Given the description of an element on the screen output the (x, y) to click on. 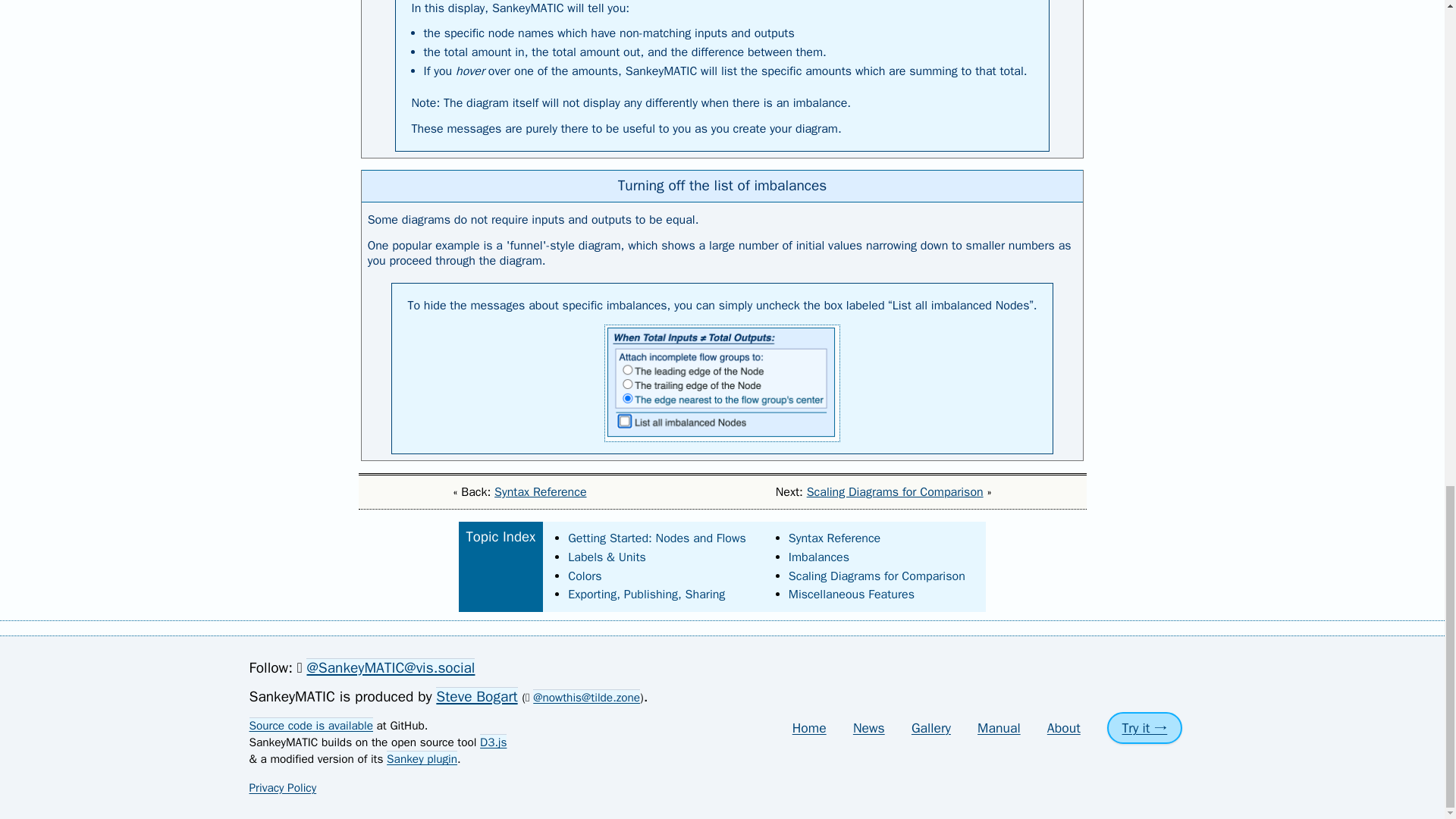
Getting Started: Nodes and Flows (656, 538)
Scaling Diagrams for Comparison (877, 575)
Gallery (930, 727)
Home (809, 727)
D3.js (493, 741)
Gallery of SankeyMATIC Examples (930, 727)
Syntax Reference (540, 491)
How to use SankeyMATIC to the fullest (998, 727)
Steve Bogart (475, 696)
Imbalances (818, 557)
Privacy Policy (281, 787)
About SankeyMATIC and how to support the site (1063, 727)
Colors (584, 575)
About (1063, 727)
SankeyMATIC Home Page (809, 727)
